Given the description of an element on the screen output the (x, y) to click on. 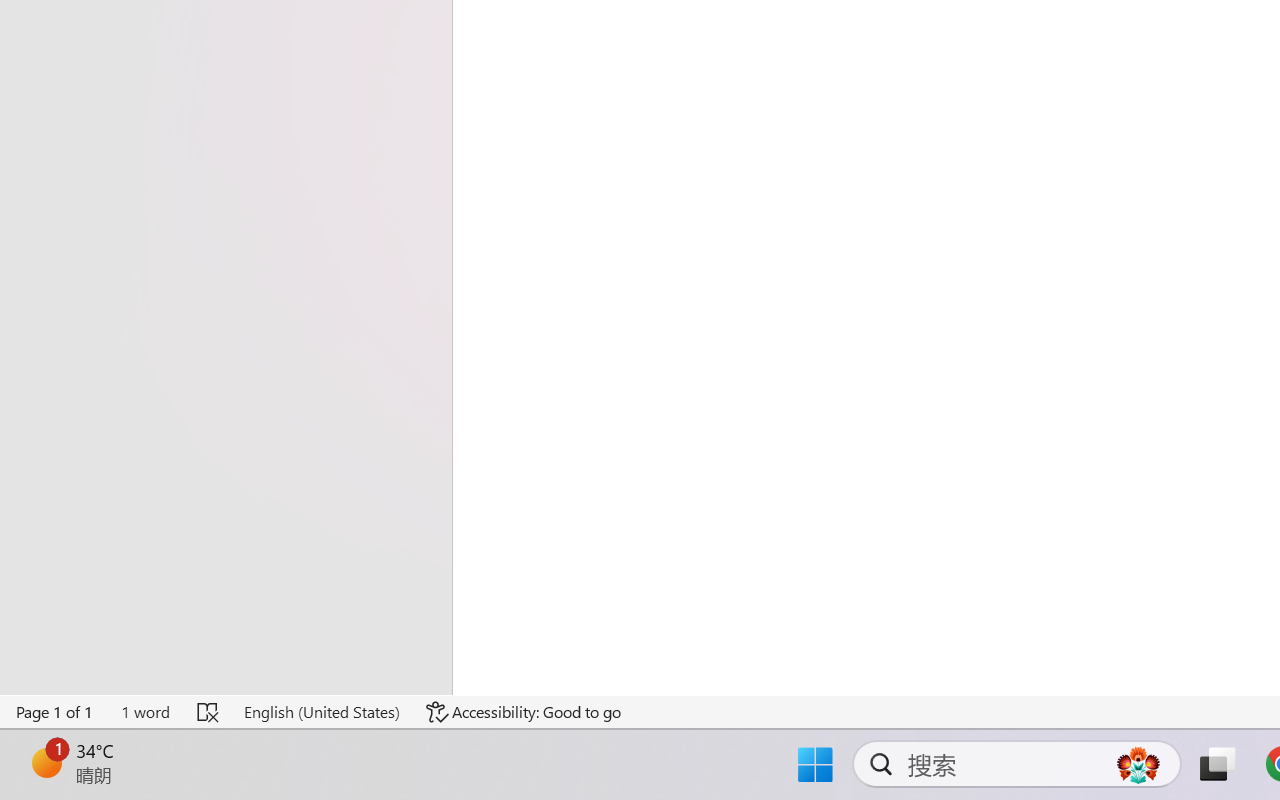
Spelling and Grammar Check Errors (208, 712)
